Given the description of an element on the screen output the (x, y) to click on. 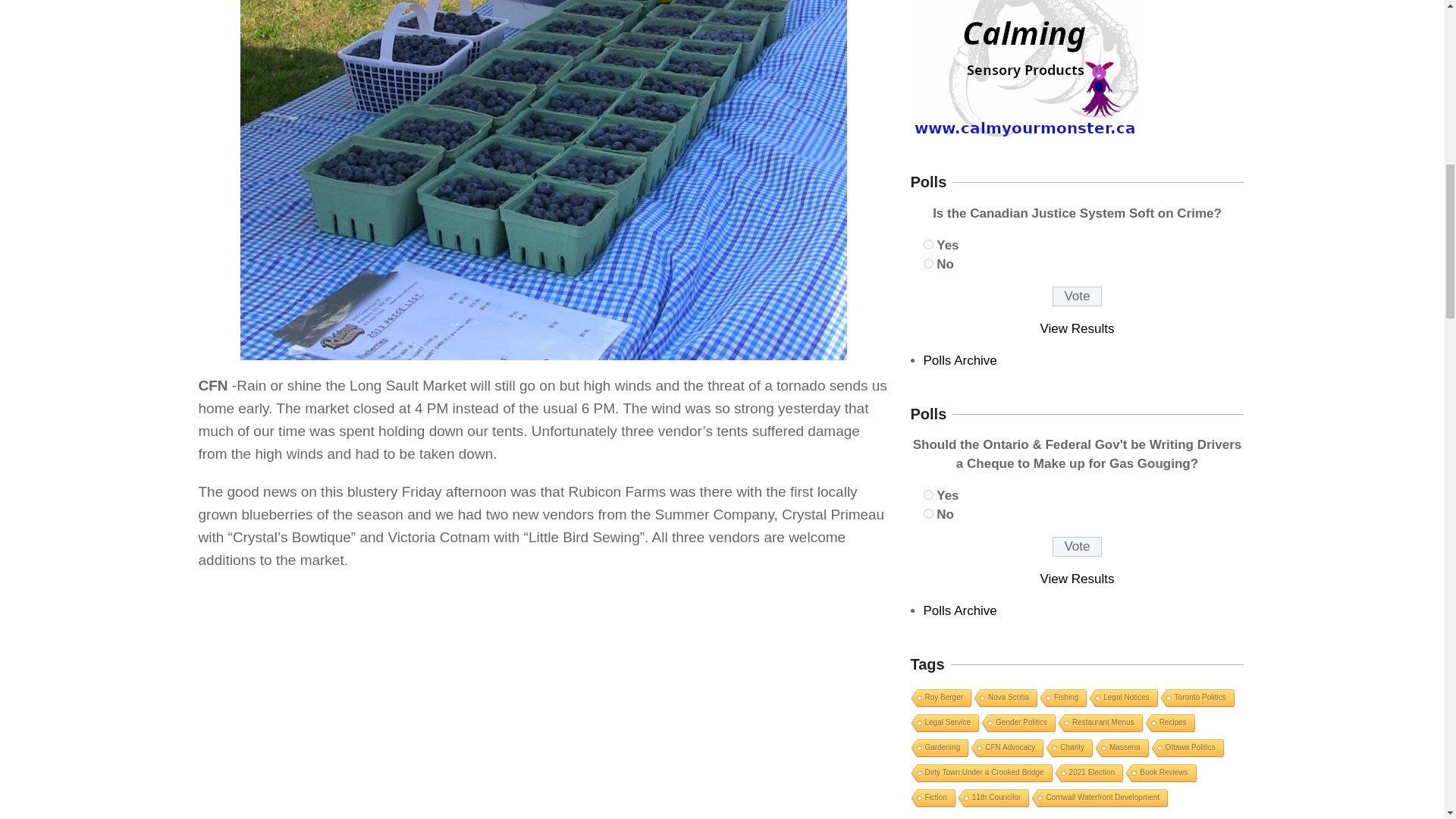
View Results Of This Poll (1078, 328)
1755 (928, 263)
1763 (928, 513)
   Vote    (1076, 296)
View Results Of This Poll (1078, 578)
   Vote    (1076, 546)
1754 (928, 244)
1762 (928, 494)
